Given the description of an element on the screen output the (x, y) to click on. 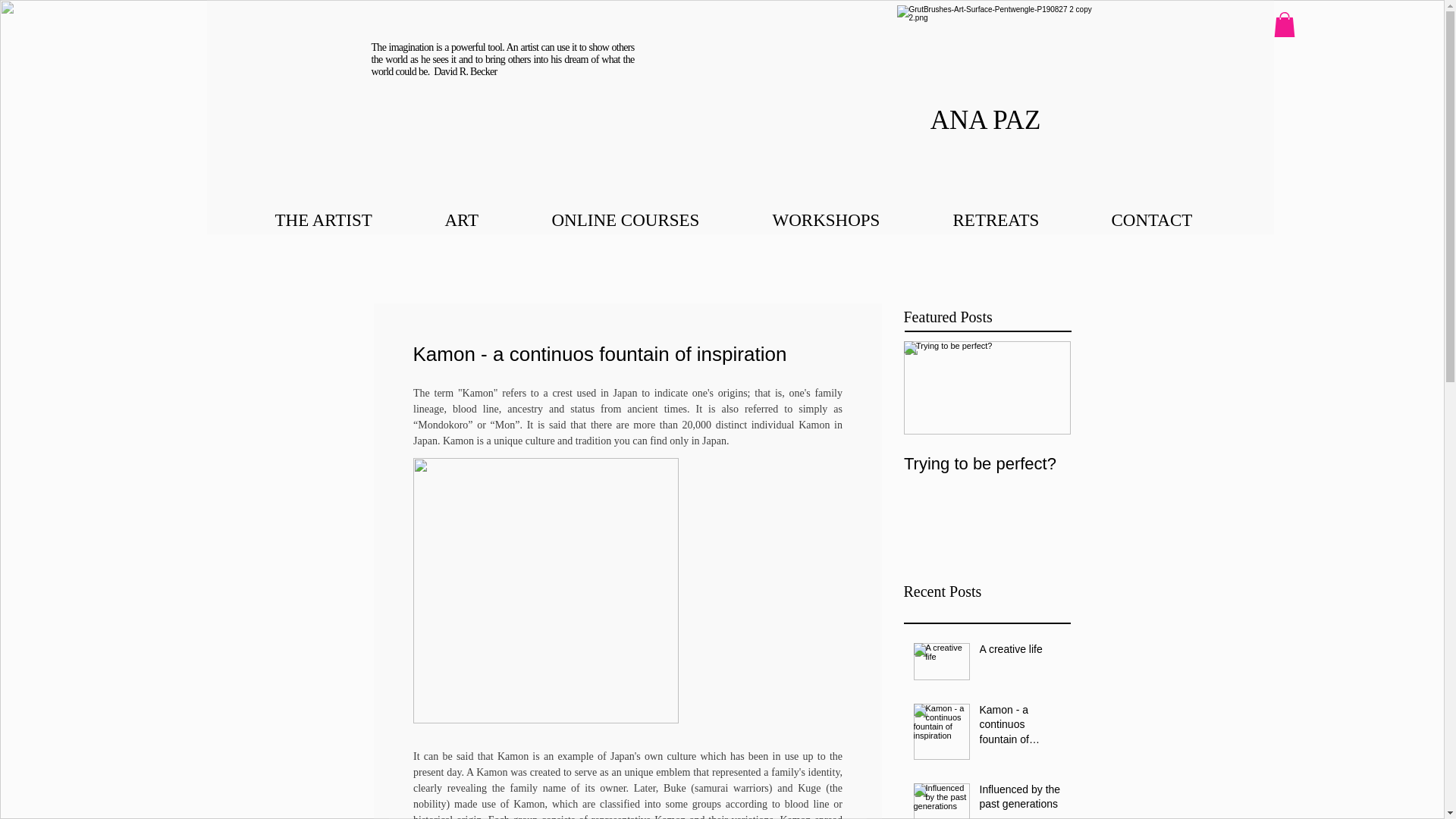
Influenced by the past generations (1020, 800)
ART (486, 220)
CONTACT (1175, 220)
ONLINE COURSES (650, 220)
A creative life (1020, 652)
WORKSHOPS (851, 220)
Trying to be perfect? (987, 448)
RETREATS (1021, 220)
Trying to be perfect? (987, 464)
Kamon - a continuos fountain of inspiration (1020, 727)
Trying to be perfect? (987, 448)
THE ARTIST (348, 220)
